Given the description of an element on the screen output the (x, y) to click on. 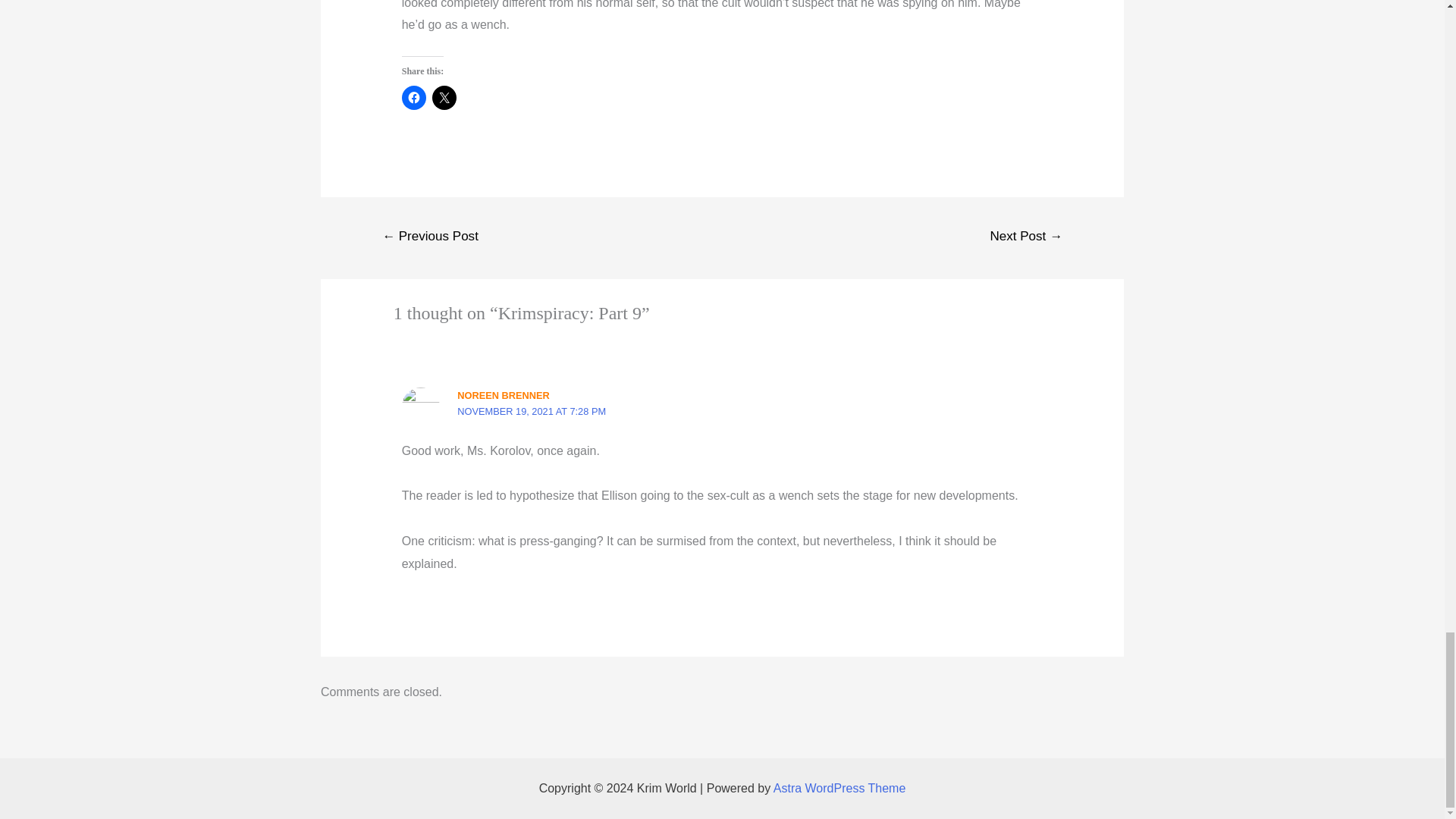
Click to share on X (444, 97)
Click to share on Facebook (413, 97)
